Given the description of an element on the screen output the (x, y) to click on. 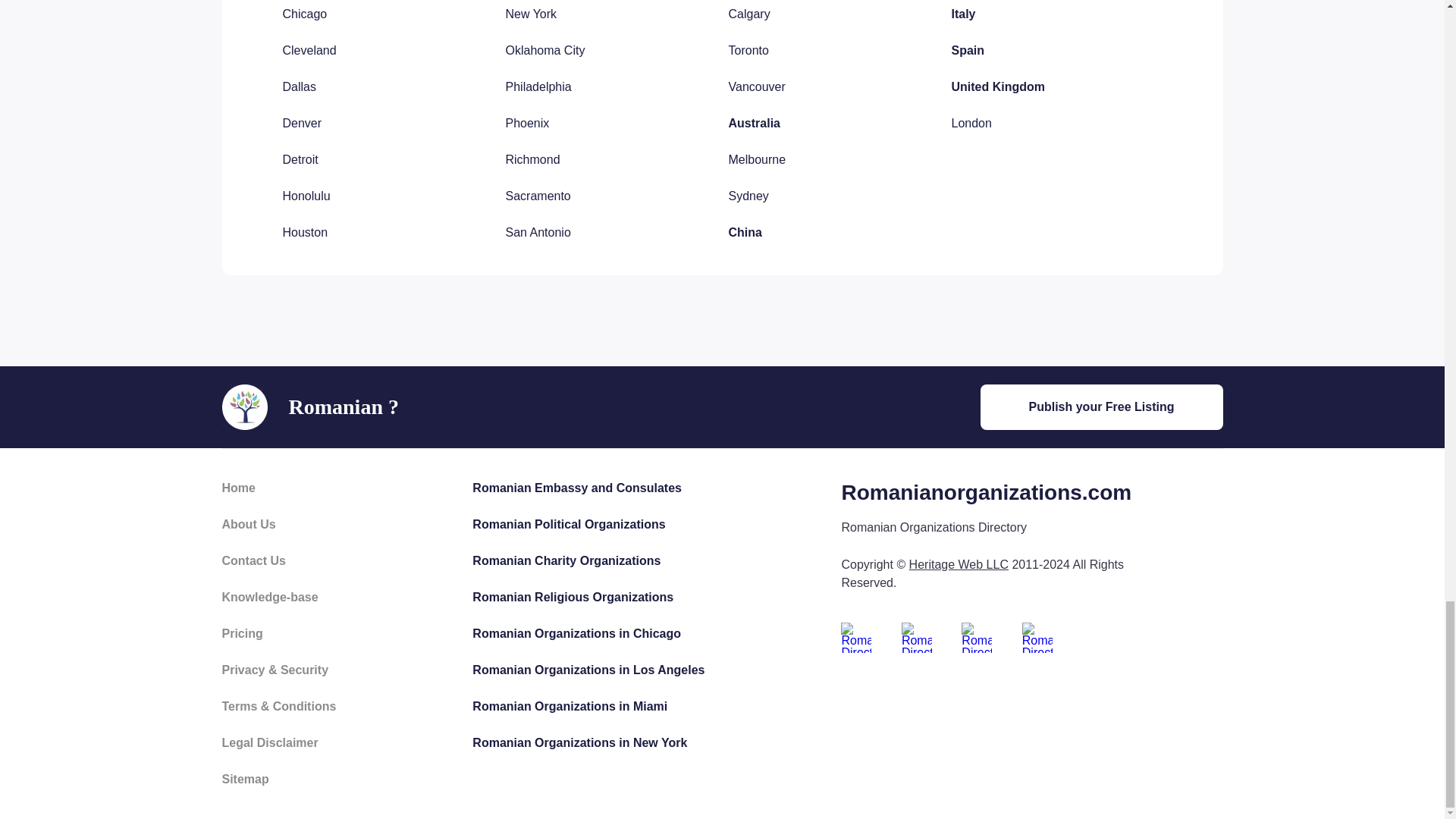
Romanian Organizations Directory (243, 406)
Follow Com. on Twitter (916, 637)
Follow Com. on Facebook (855, 637)
Follow Com. on Instagram (1037, 637)
Follow Com. on Linkedin (975, 637)
